Given the description of an element on the screen output the (x, y) to click on. 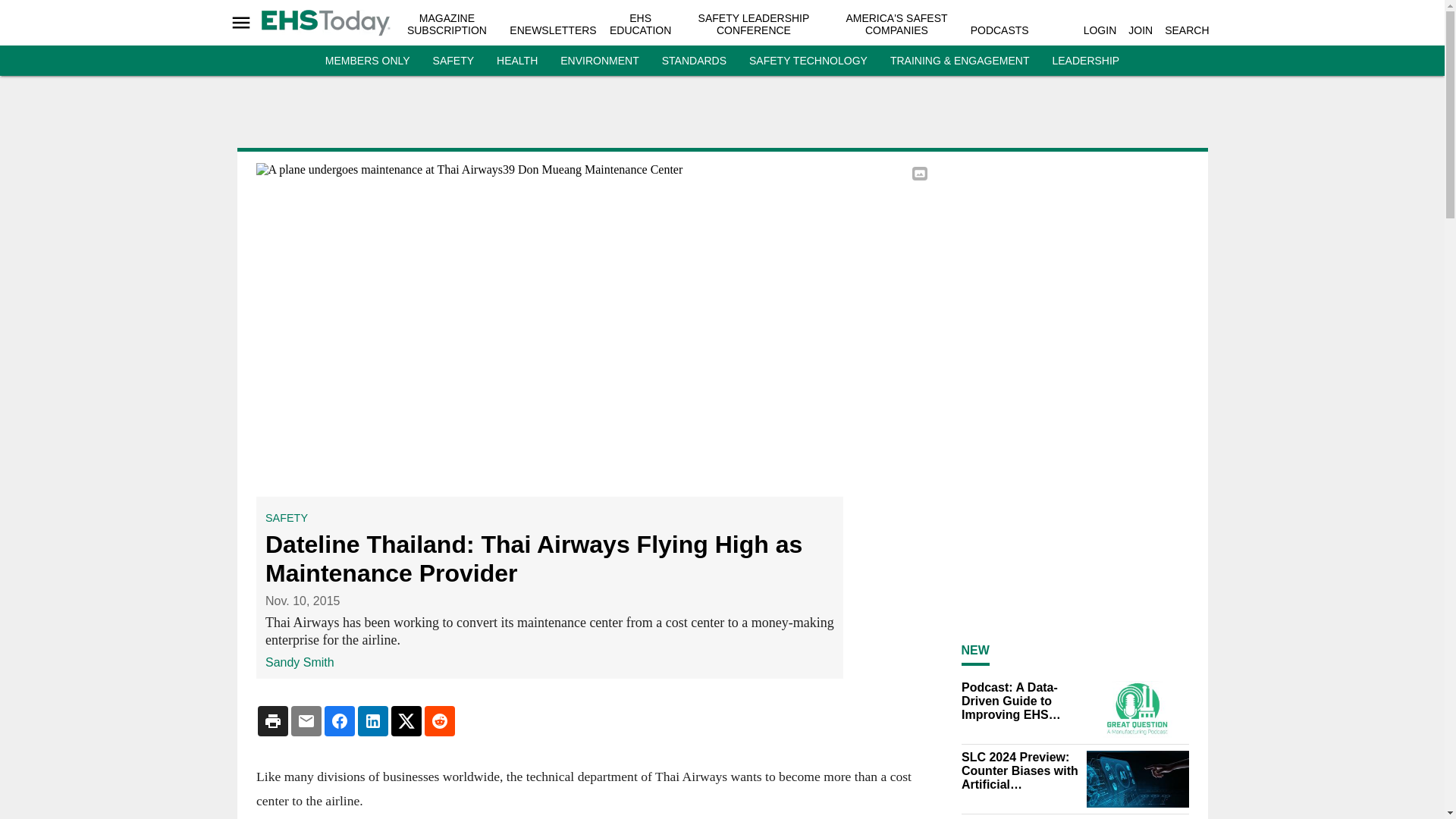
MAGAZINE SUBSCRIPTION (446, 24)
SAFETY TECHNOLOGY (808, 60)
JOIN (1140, 30)
SAFETY (453, 60)
AMERICA'S SAFEST COMPANIES (896, 24)
PODCASTS (1000, 30)
SAFETY LEADERSHIP CONFERENCE (753, 24)
ENEWSLETTERS (552, 30)
MEMBERS ONLY (367, 60)
